Given the description of an element on the screen output the (x, y) to click on. 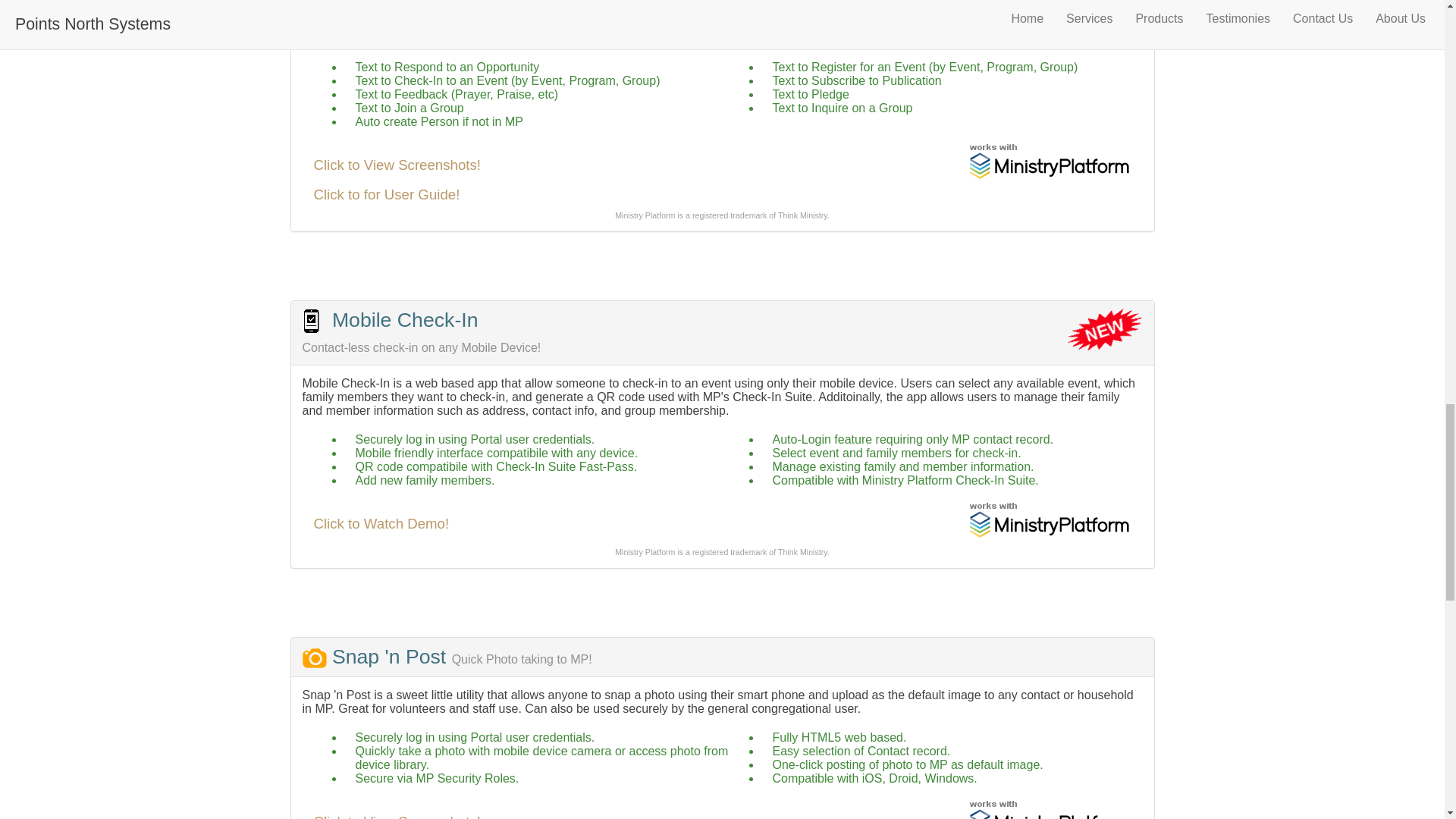
Click to for User Guide! (387, 194)
Click to View Screenshots! (397, 816)
Click to Watch Demo! (381, 523)
Click to View Screenshots! (397, 164)
